Given the description of an element on the screen output the (x, y) to click on. 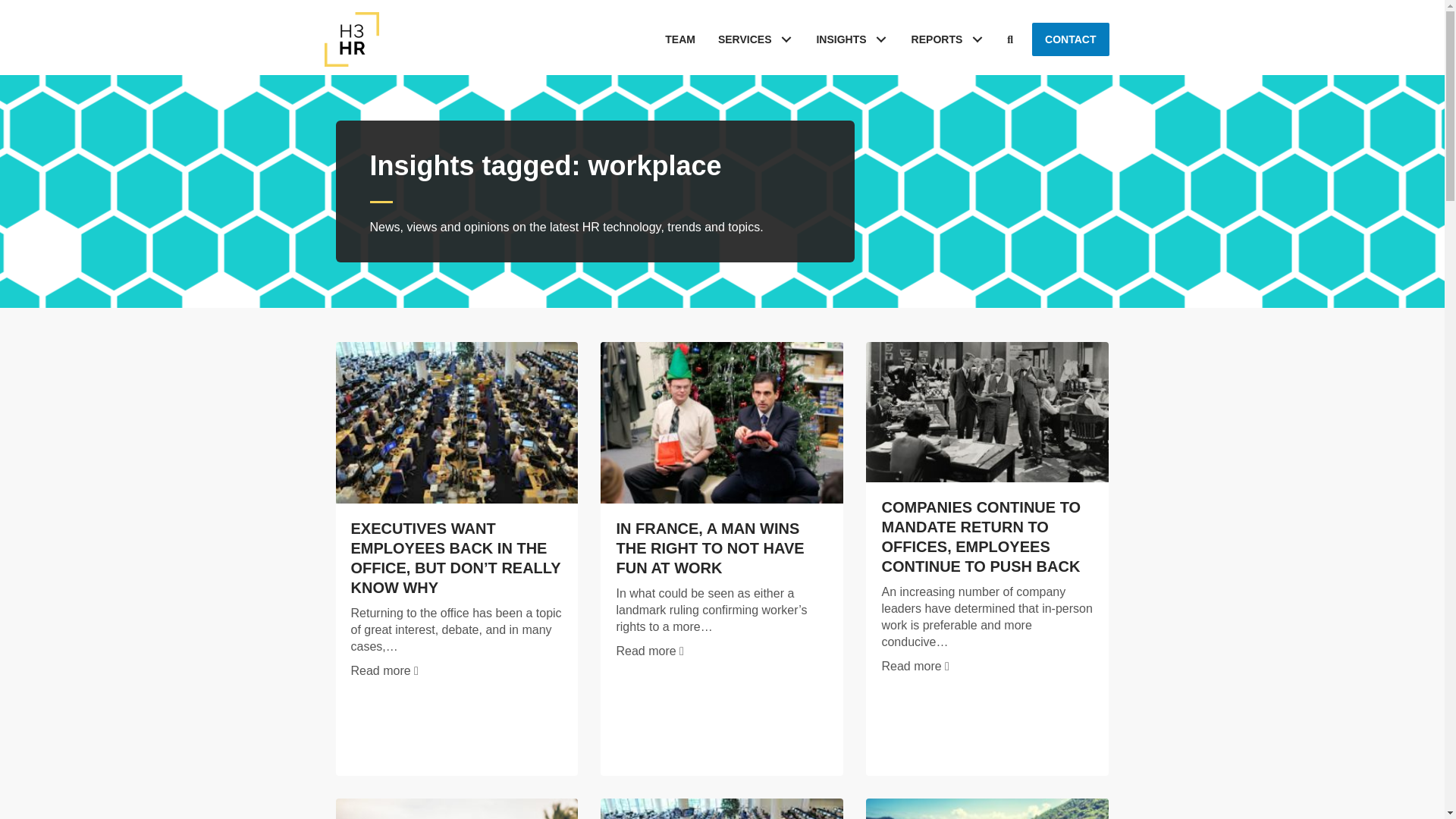
TEAM (679, 39)
In France, a Man Wins the Right to Not Have Fun at Work (709, 548)
In France, a Man Wins the Right to Not Have Fun at Work (648, 651)
Read more (914, 666)
In France, a Man Wins the Right to Not Have Fun at Work (721, 421)
CONTACT (1070, 39)
IN FRANCE, A MAN WINS THE RIGHT TO NOT HAVE FUN AT WORK (709, 548)
SERVICES (755, 39)
INSIGHTS (852, 39)
Read more (648, 651)
REPORTS (947, 39)
